Given the description of an element on the screen output the (x, y) to click on. 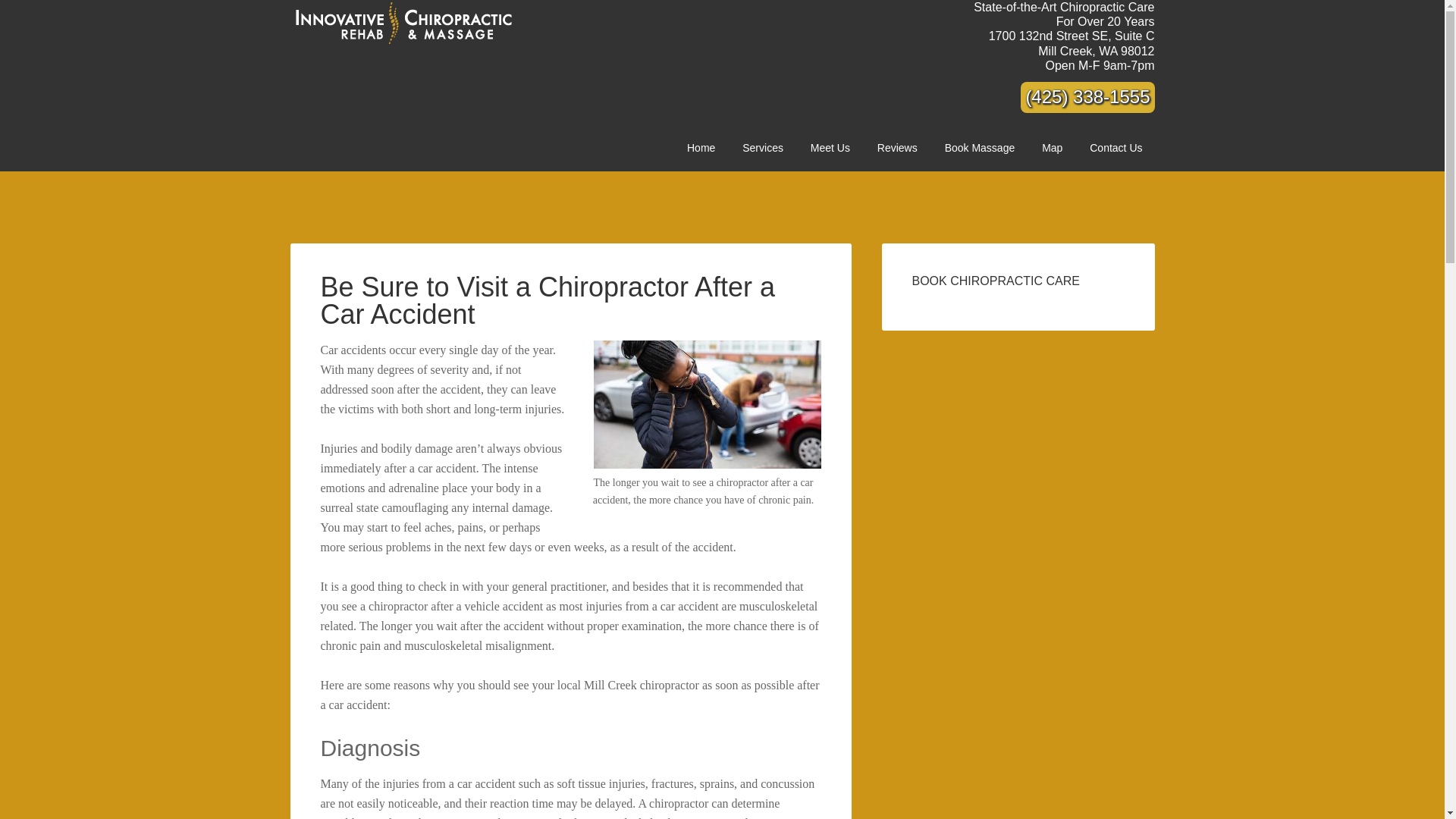
Reviews (897, 148)
Services (762, 148)
Book Massage (1071, 42)
Map (980, 148)
Meet Us (1051, 148)
Home (829, 148)
Contact Us (700, 148)
